Given the description of an element on the screen output the (x, y) to click on. 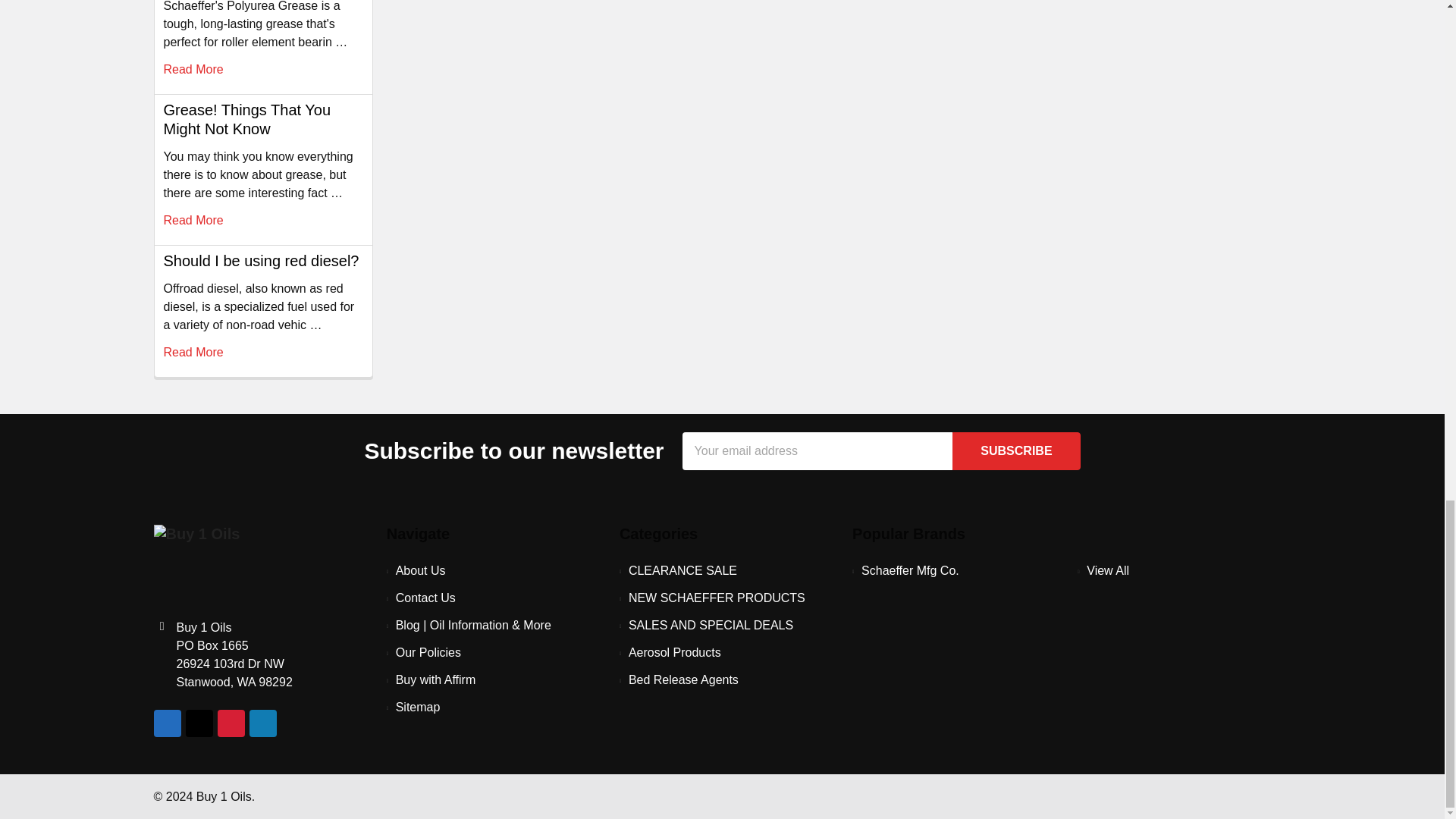
Pinterest (230, 723)
Linkedin (262, 723)
Subscribe (1016, 451)
X (198, 723)
Buy 1 Oils (196, 562)
Facebook (166, 723)
